Given the description of an element on the screen output the (x, y) to click on. 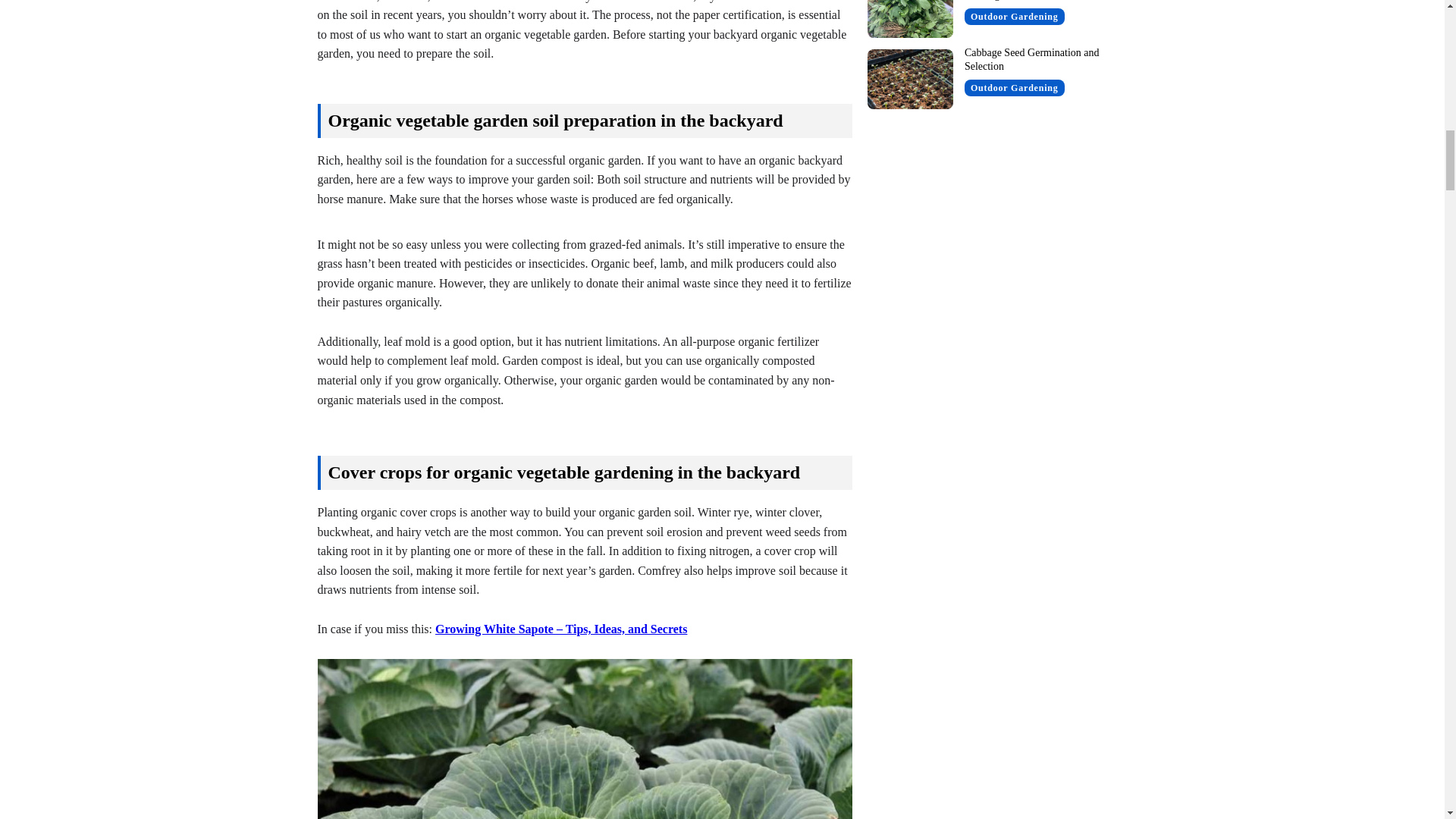
Organic Backyard Vegetable Gardening 8 (584, 739)
